Given the description of an element on the screen output the (x, y) to click on. 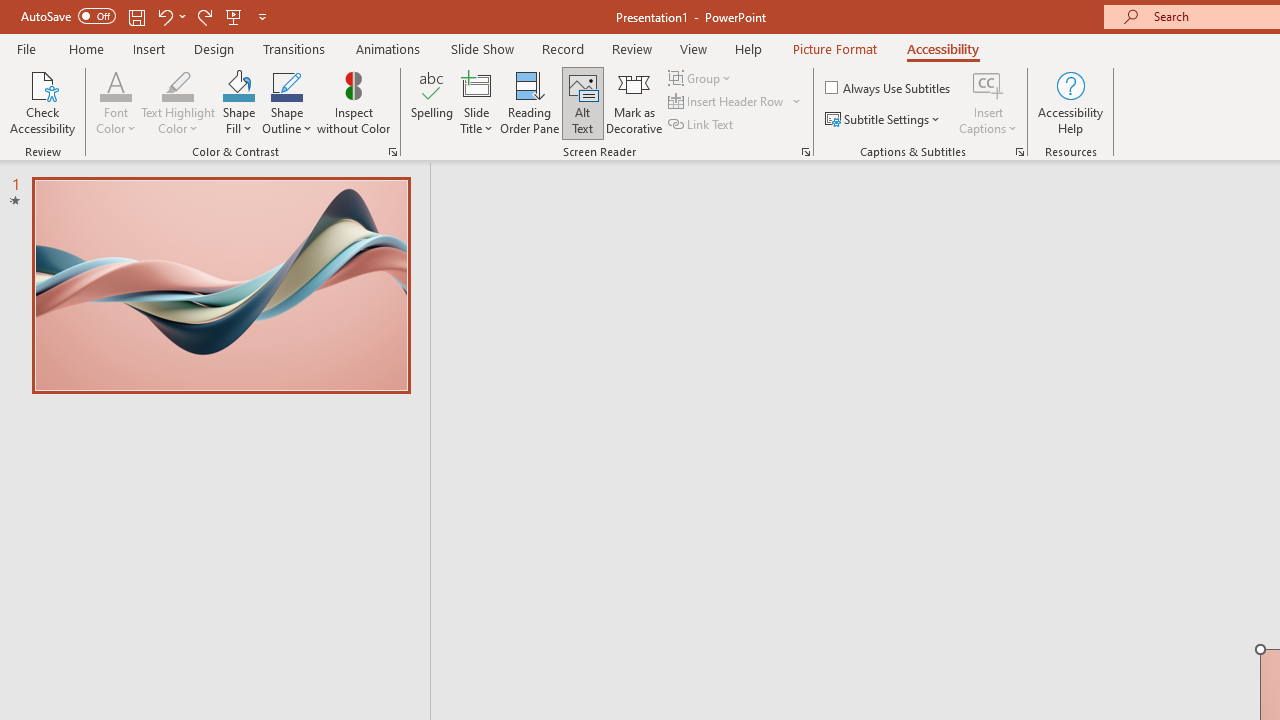
Mark as Decorative (634, 102)
Captions & Subtitles (1019, 151)
Inspect without Color (353, 102)
